Given the description of an element on the screen output the (x, y) to click on. 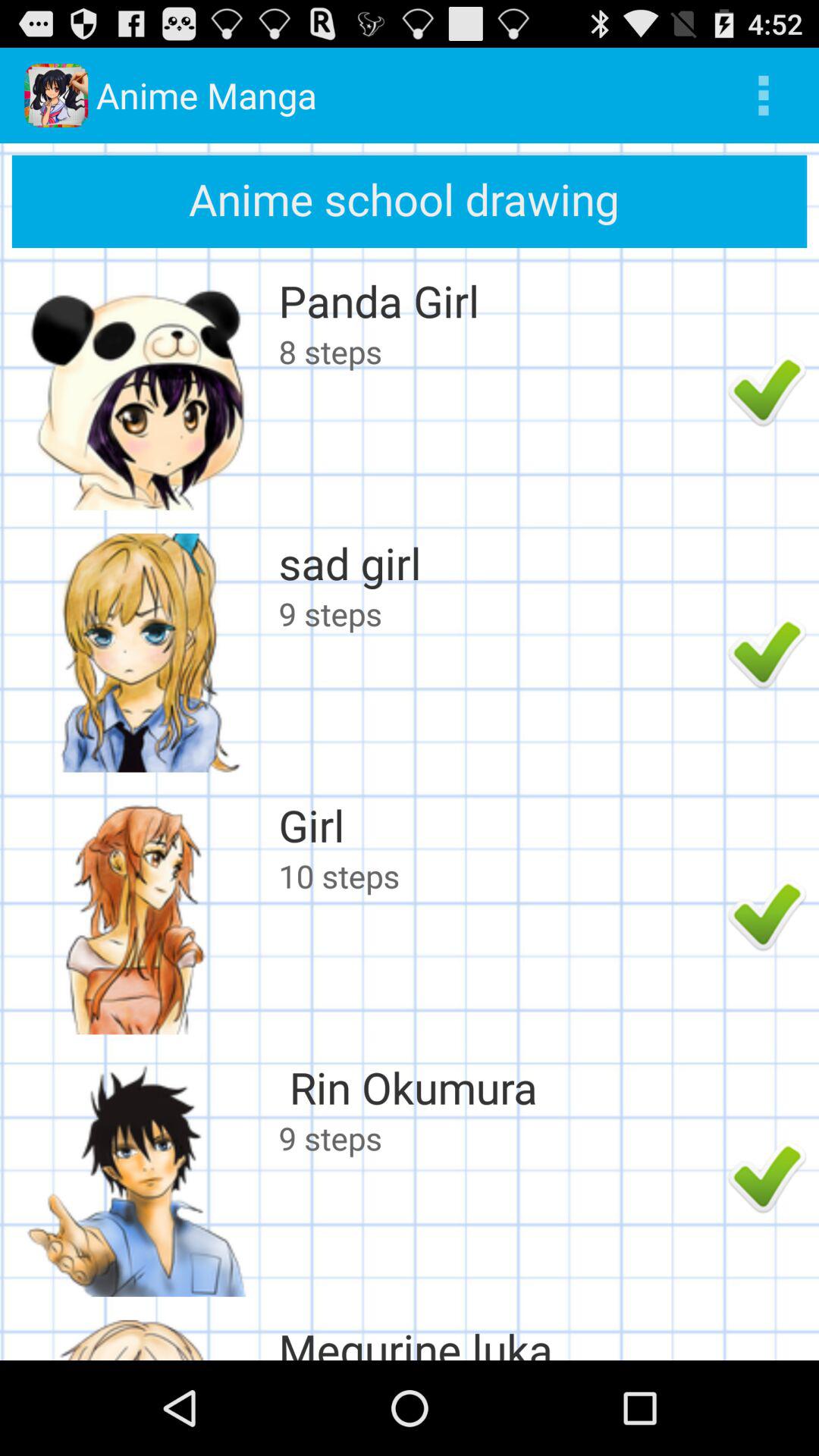
select panda girl (498, 300)
